Given the description of an element on the screen output the (x, y) to click on. 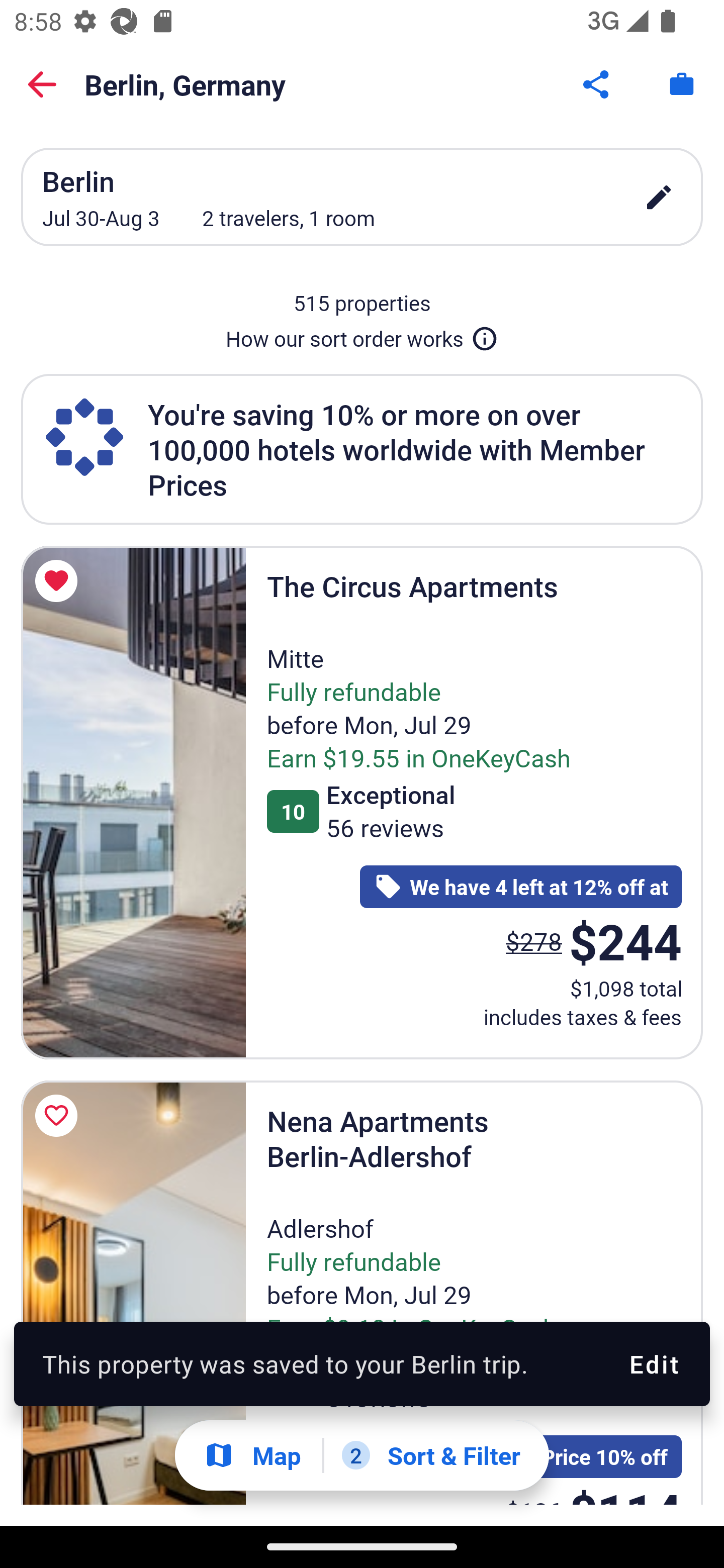
Back (42, 84)
Share Button (597, 84)
Trips. Button (681, 84)
Berlin Jul 30-Aug 3 2 travelers, 1 room edit (361, 196)
How our sort order works (361, 334)
Remove The Circus Apartments from a trip (59, 580)
The Circus Apartments (133, 802)
$278 The price was $278 (533, 940)
Save Nena Apartments Berlin-Adlershof to a trip (59, 1115)
Nena Apartments Berlin-Adlershof (133, 1292)
Edit (653, 1363)
2 Sort & Filter 2 Filters applied. Filters Button (430, 1455)
Show map Map Show map Button (252, 1455)
